Given the description of an element on the screen output the (x, y) to click on. 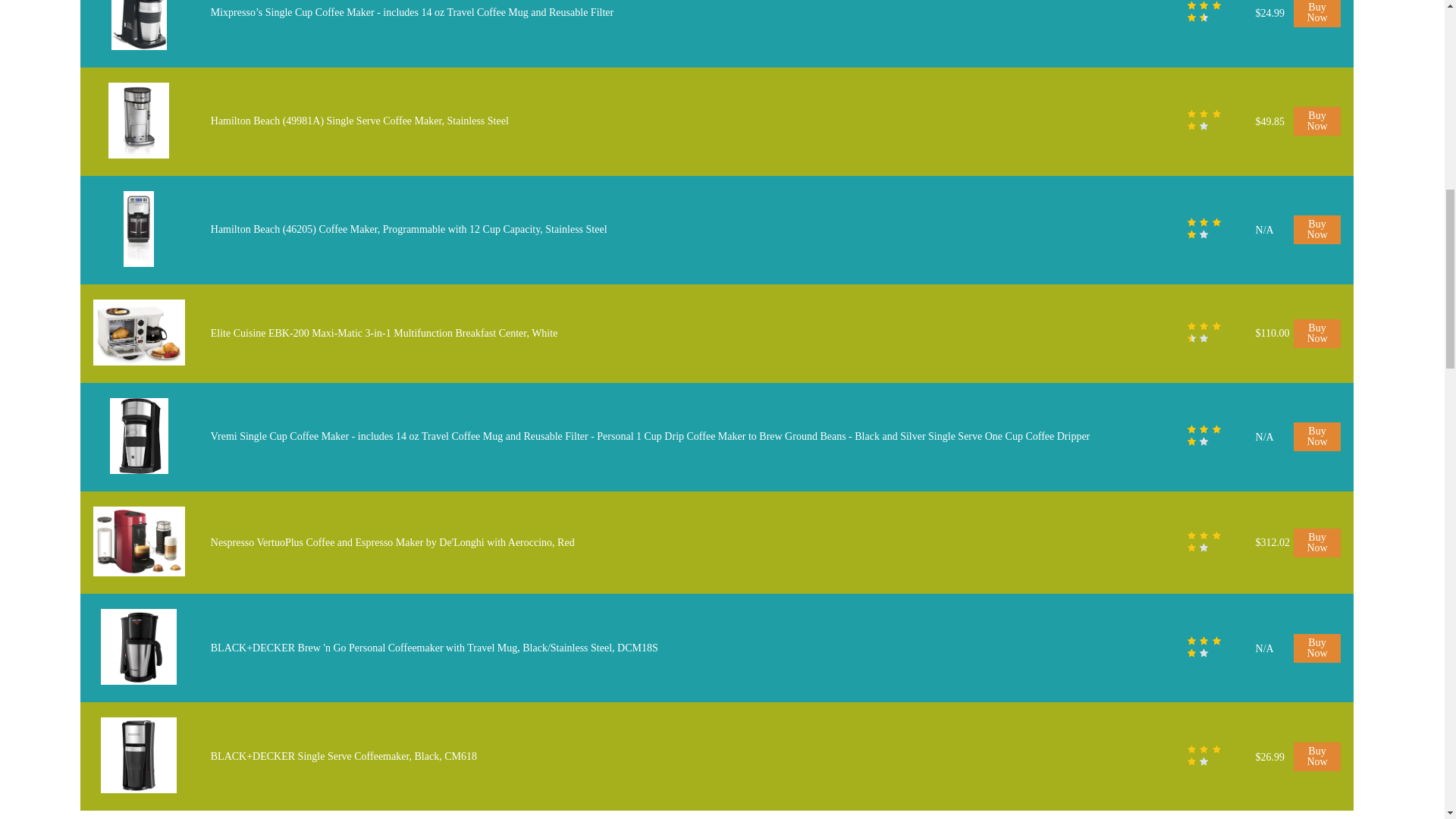
Buy Now (1317, 333)
Buy Now (1317, 229)
Buy Now (1317, 121)
Buy Now (1317, 13)
Buy Now (1317, 436)
